Given the description of an element on the screen output the (x, y) to click on. 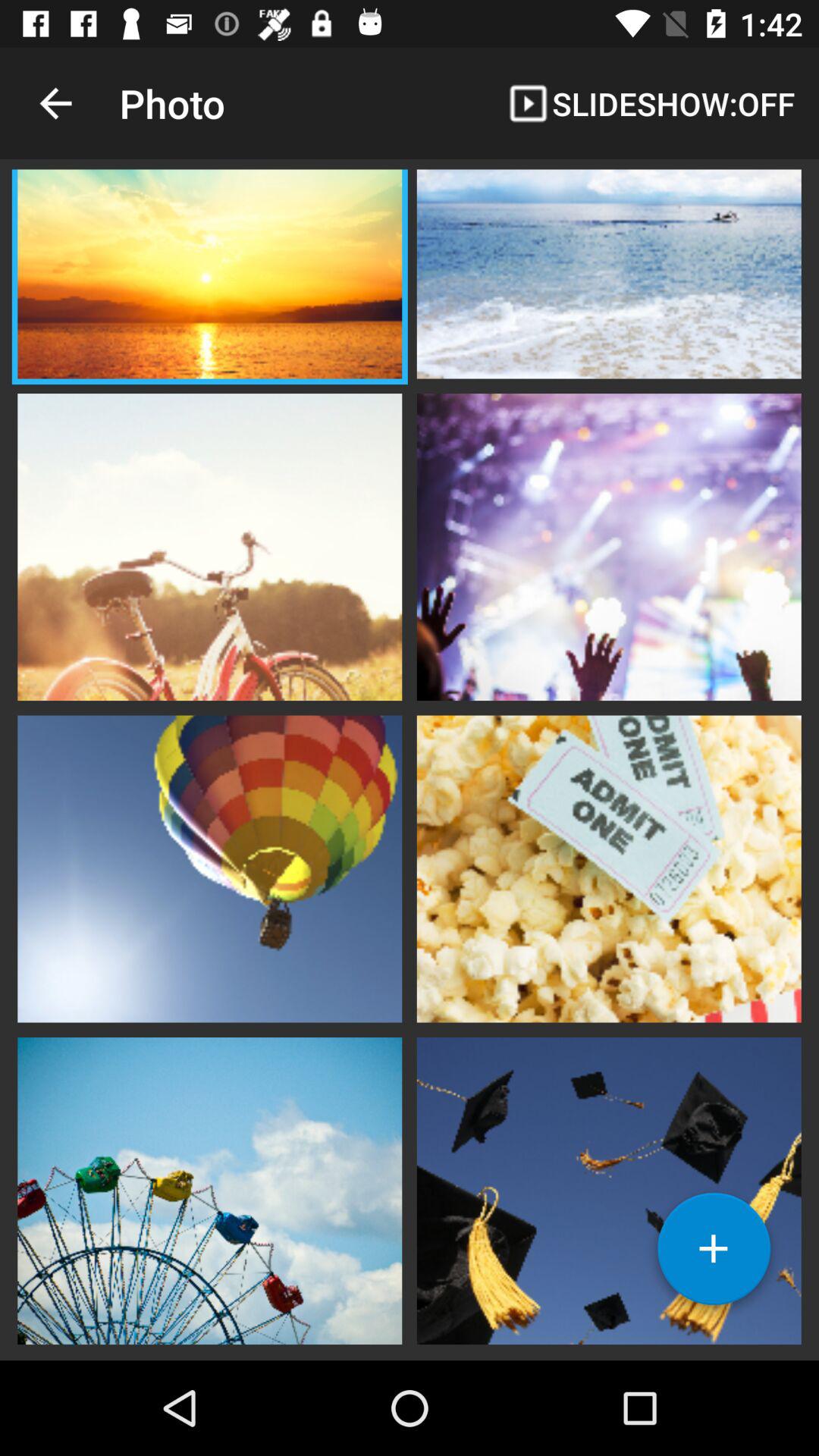
select photo (209, 545)
